Given the description of an element on the screen output the (x, y) to click on. 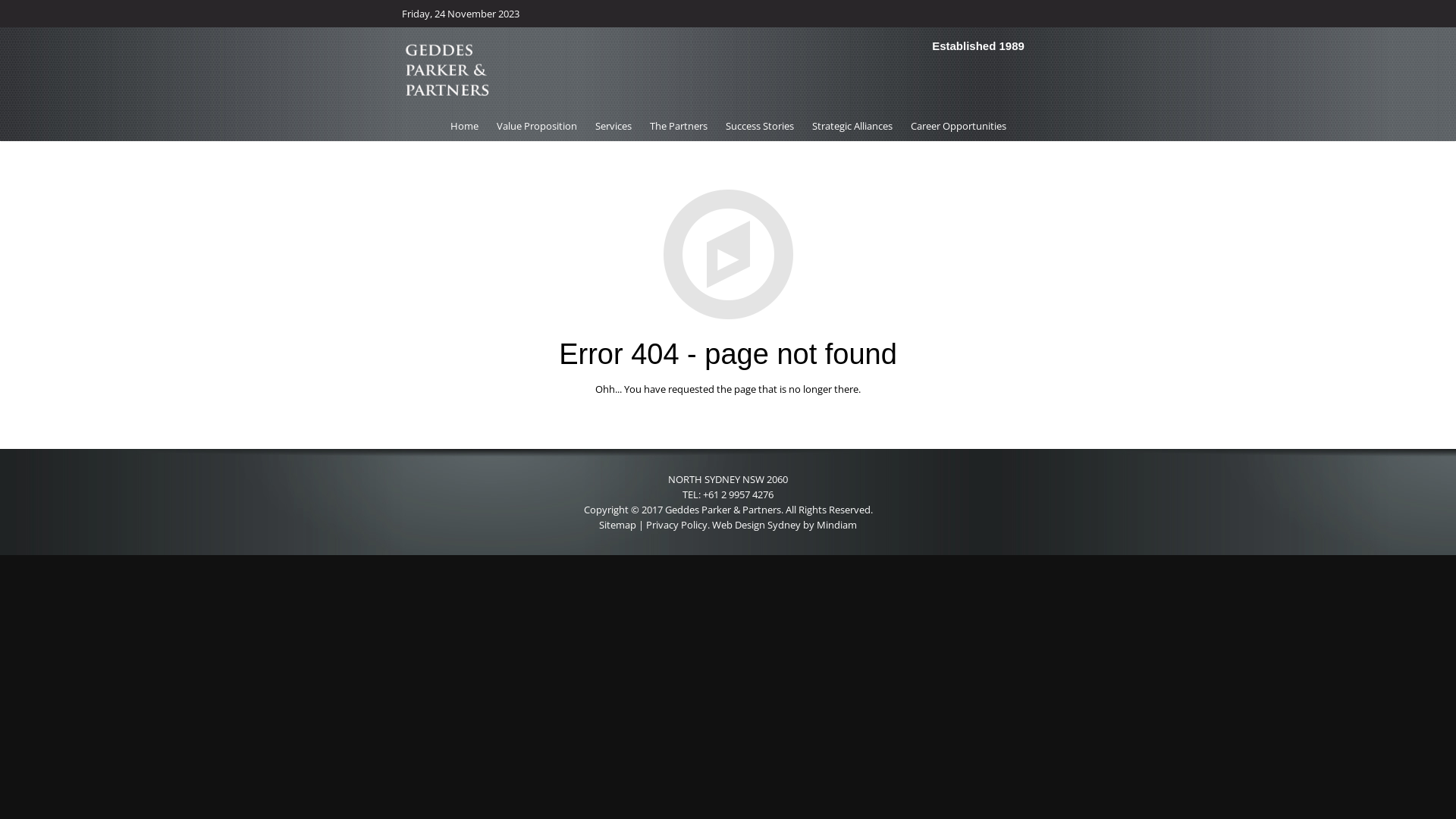
Mindiam Element type: text (836, 524)
Career Opportunities Element type: text (957, 125)
The Partners Element type: text (677, 125)
Sitemap Element type: text (617, 524)
Value Proposition Element type: text (535, 125)
Services Element type: text (612, 125)
Web Design Sydney Element type: text (756, 524)
Success Stories Element type: text (758, 125)
Privacy Policy Element type: text (676, 524)
Strategic Alliances Element type: text (851, 125)
Home Element type: text (464, 125)
